Given the description of an element on the screen output the (x, y) to click on. 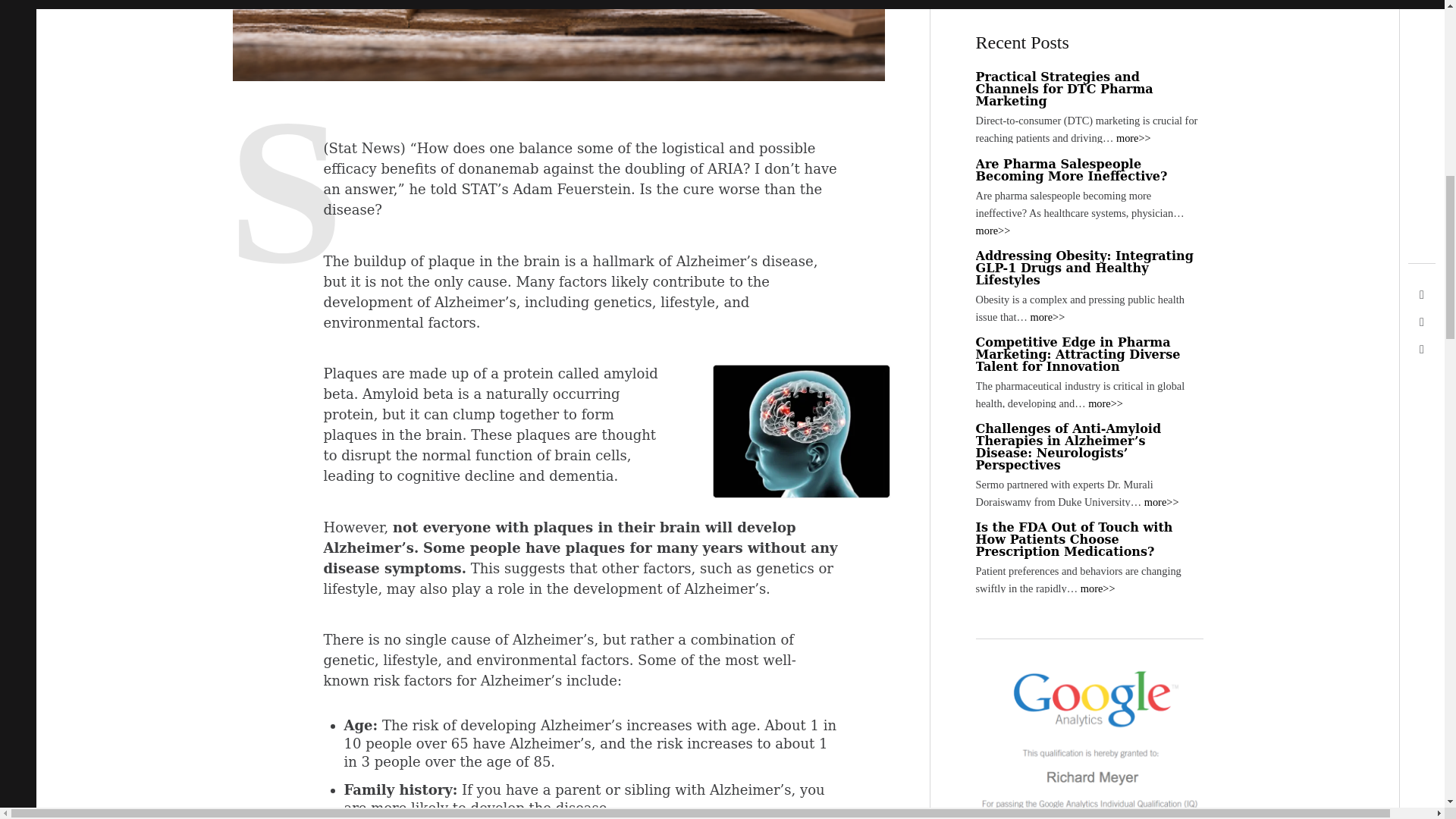
Are Pharma Salespeople Becoming More Ineffective? (1071, 170)
Practical Strategies and Channels for DTC Pharma Marketing (1133, 137)
Practical Strategies and Channels for DTC Pharma Marketing (1064, 88)
Practical Strategies and Channels for DTC Pharma Marketing (1064, 88)
Are Pharma Salespeople Becoming More Ineffective? (1071, 170)
